Given the description of an element on the screen output the (x, y) to click on. 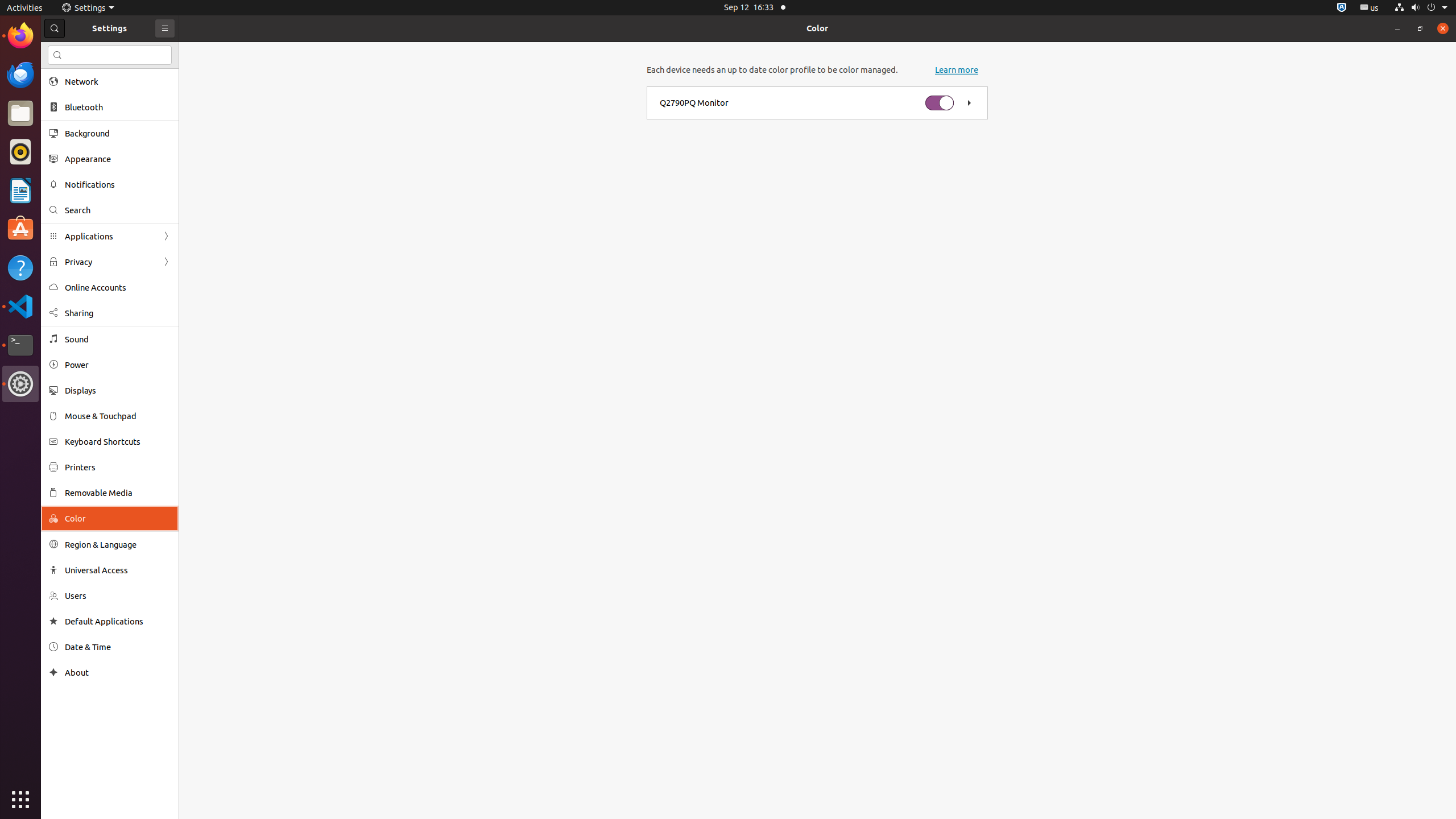
Privacy Element type: label (109, 261)
Sound Element type: label (117, 339)
Show color profiles for Q2790PQ Monitor Element type: push-button (968, 102)
Q2790PQ Monitor Element type: label (693, 102)
